Given the description of an element on the screen output the (x, y) to click on. 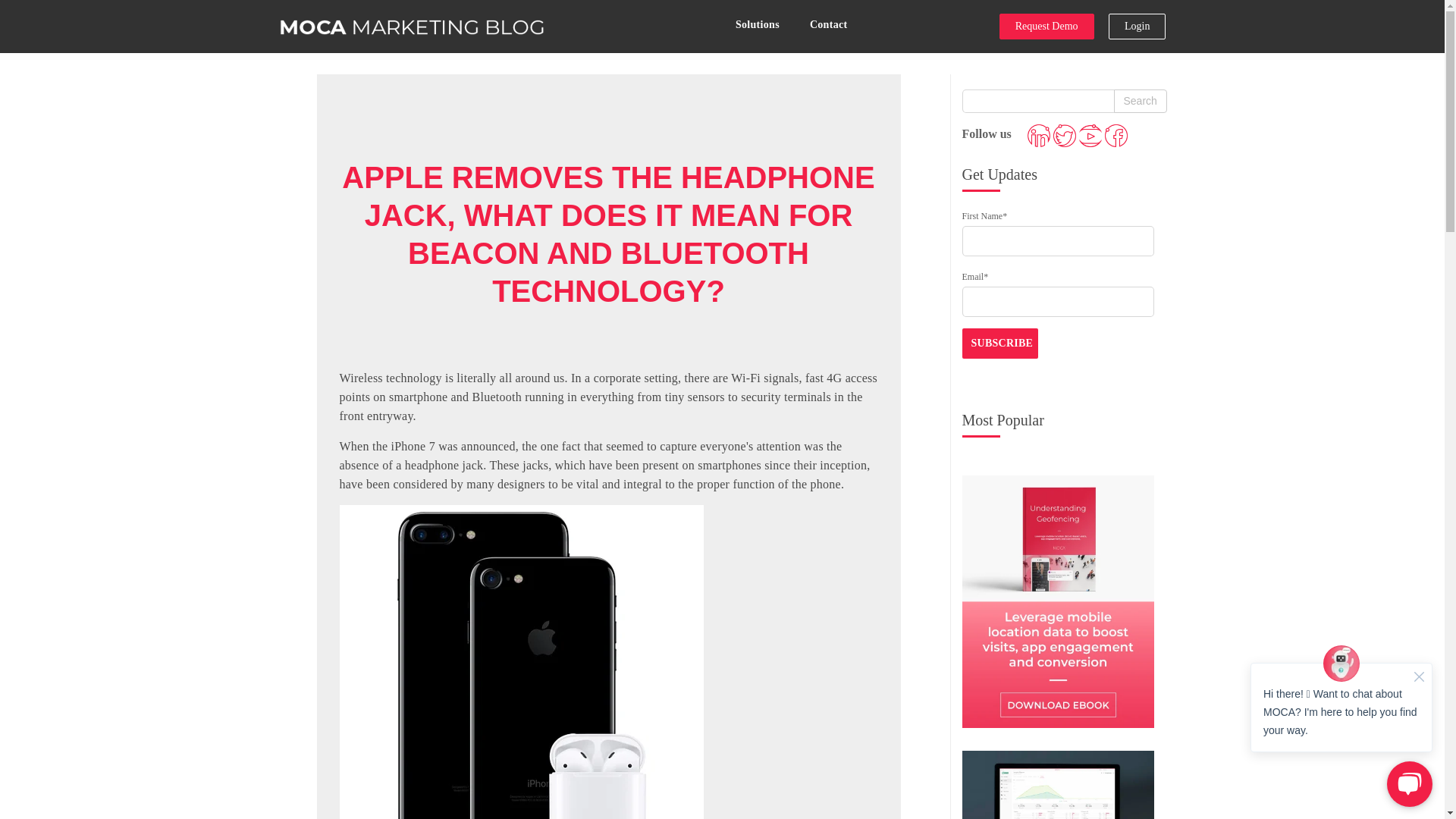
Request Demo (1046, 26)
Contact (828, 24)
Search (1139, 101)
Solutions (757, 24)
Subscribe (998, 343)
MOCA MARKETING BLOG (411, 27)
Login (1137, 26)
vertical-banner-request-demo- (1057, 785)
Login (1137, 26)
Request Demo (1046, 26)
